Given the description of an element on the screen output the (x, y) to click on. 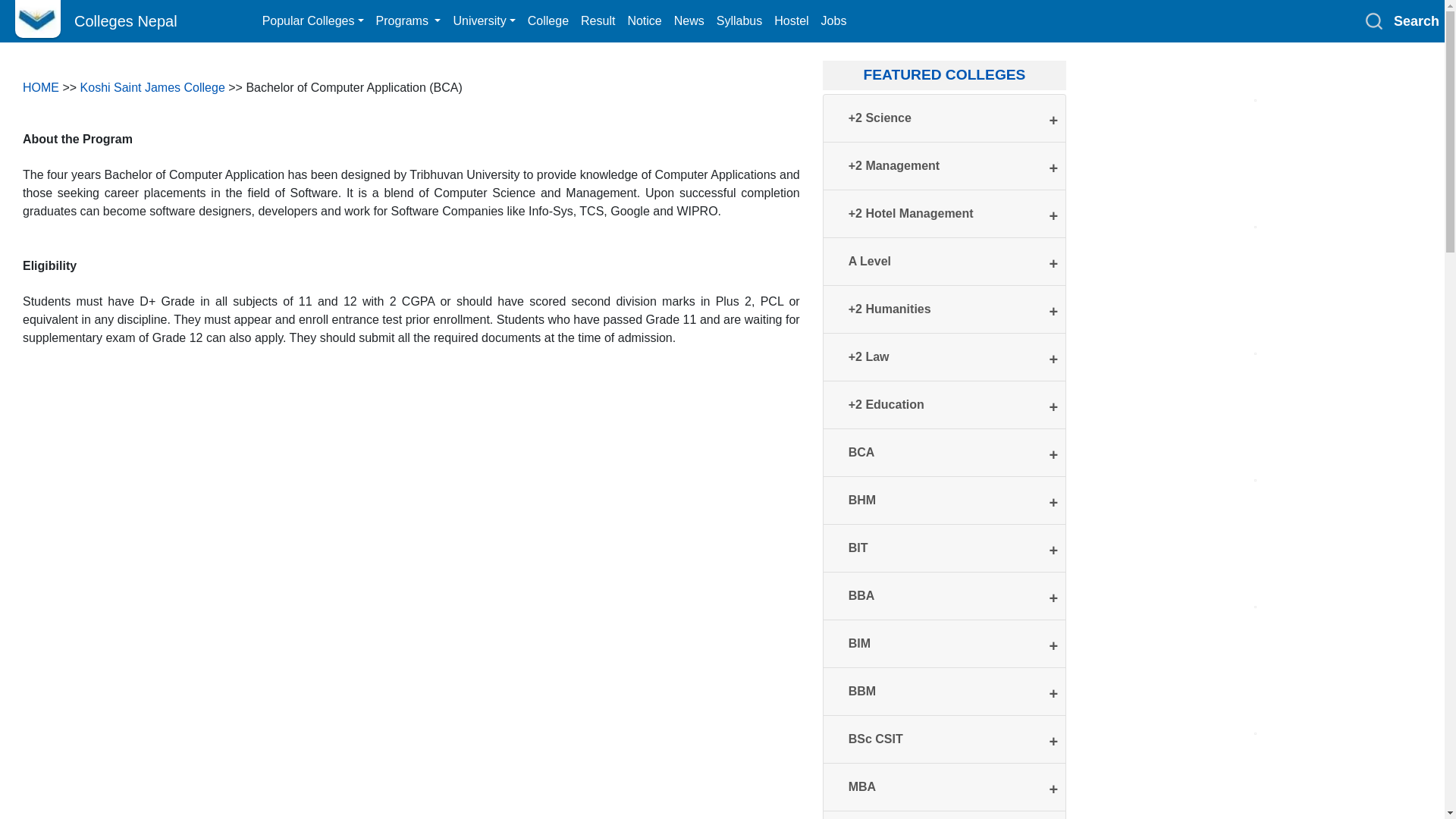
Popular Colleges (312, 20)
Colleges Nepal (106, 20)
